Given the description of an element on the screen output the (x, y) to click on. 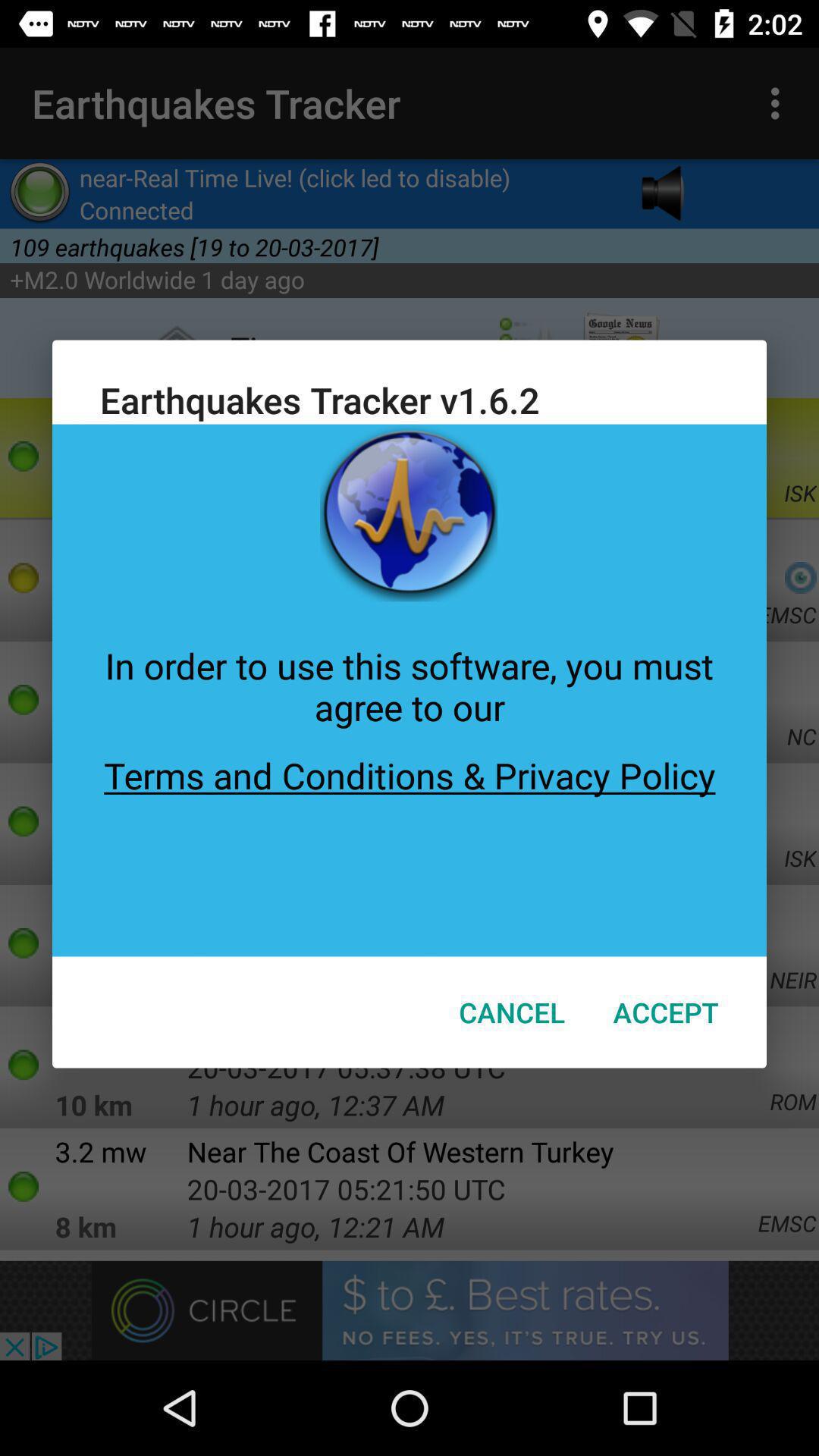
turn on the cancel icon (512, 1012)
